Given the description of an element on the screen output the (x, y) to click on. 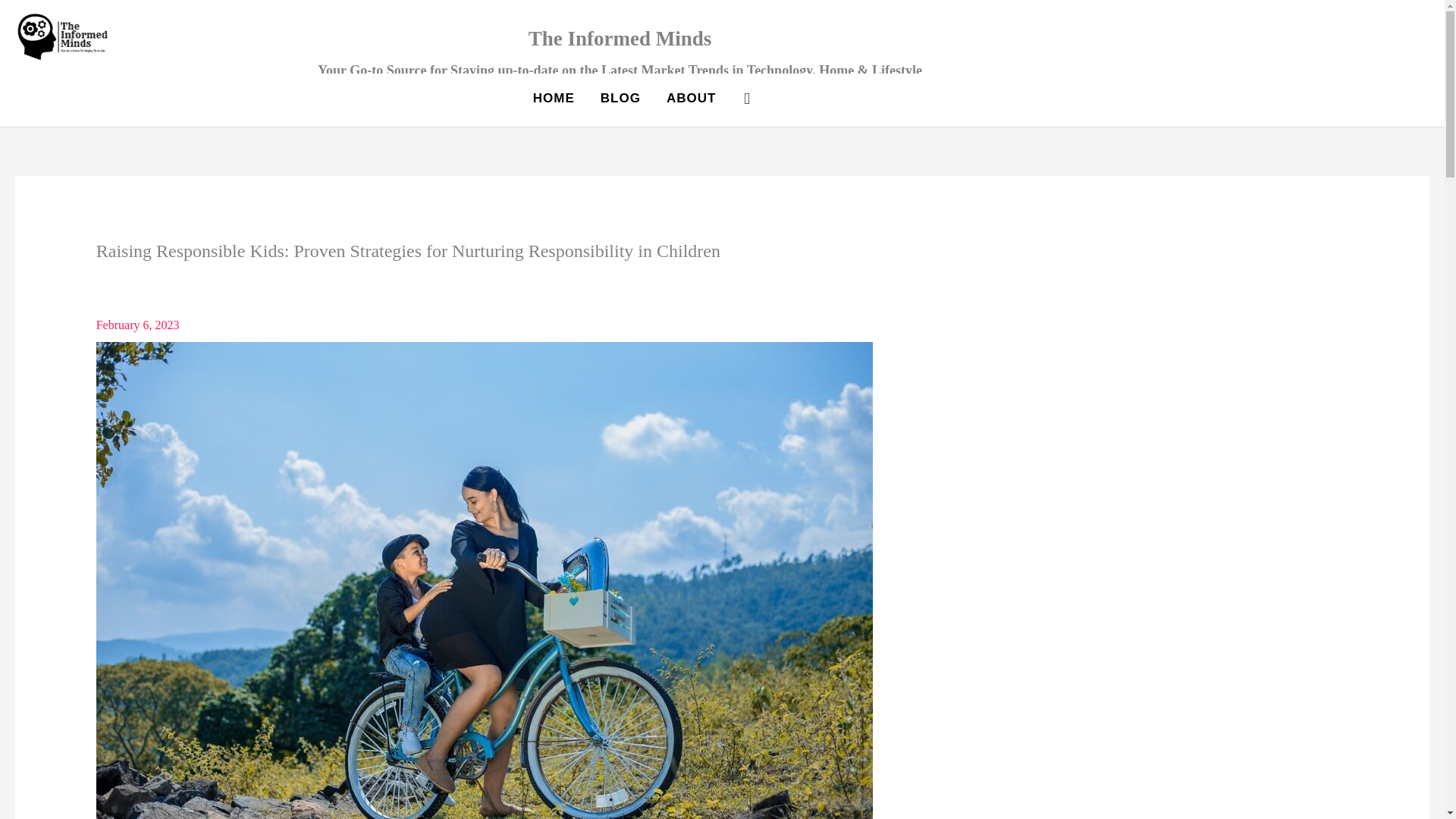
ABOUT (691, 97)
BLOG (620, 97)
HOME (553, 97)
Search (746, 98)
